Given the description of an element on the screen output the (x, y) to click on. 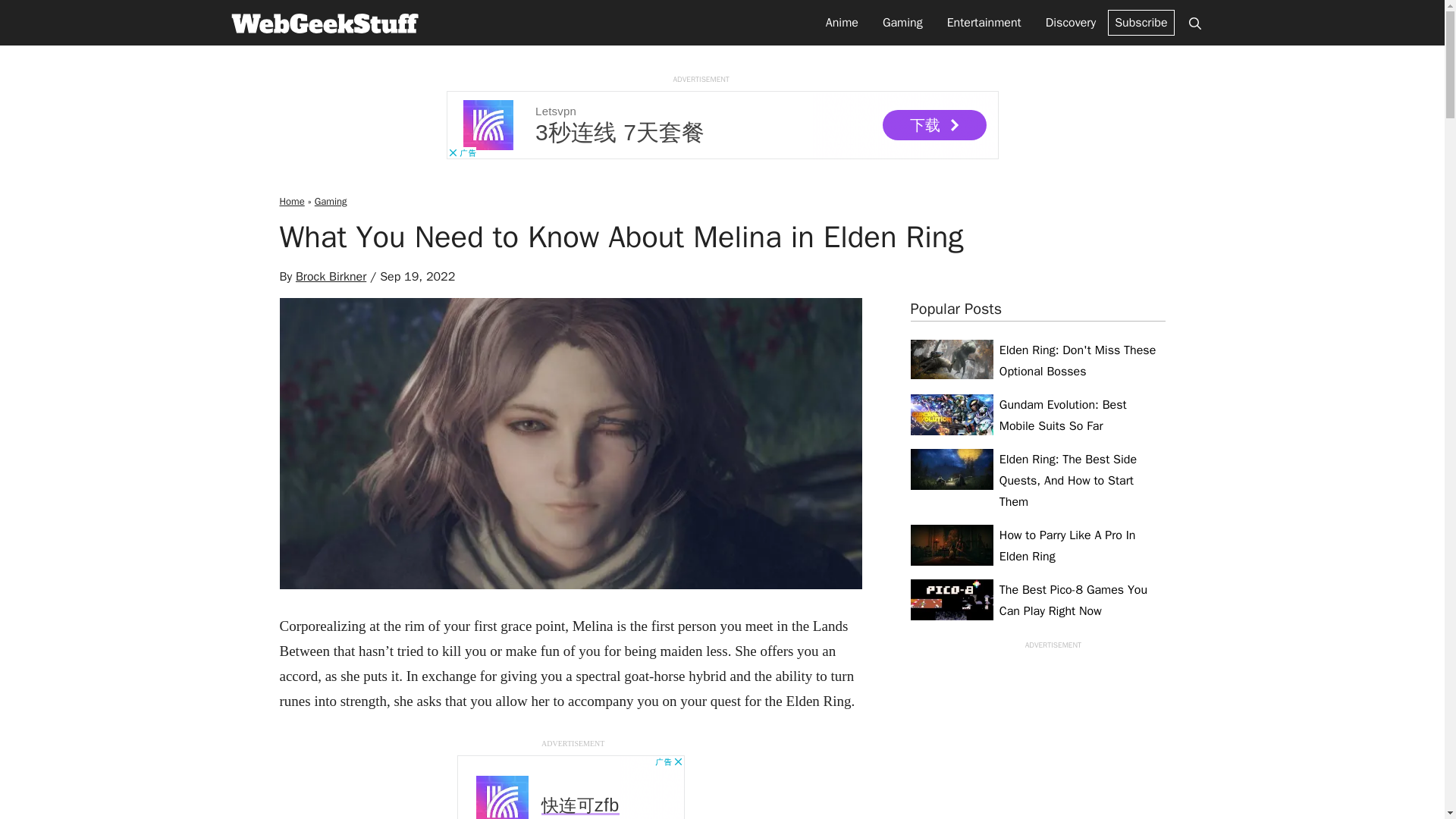
Elden Ring: Don't Miss These Optional Bosses (1037, 360)
Anime (841, 22)
Discovery (1070, 22)
Brock Birkner (330, 275)
Subscribe (1140, 22)
Discovery (1070, 22)
Elden Ring: The Best Side Quests, And How to Start Them (1037, 480)
Entertainment (983, 22)
How to Parry Like A Pro In Elden Ring (1037, 545)
Anime (841, 22)
